Given the description of an element on the screen output the (x, y) to click on. 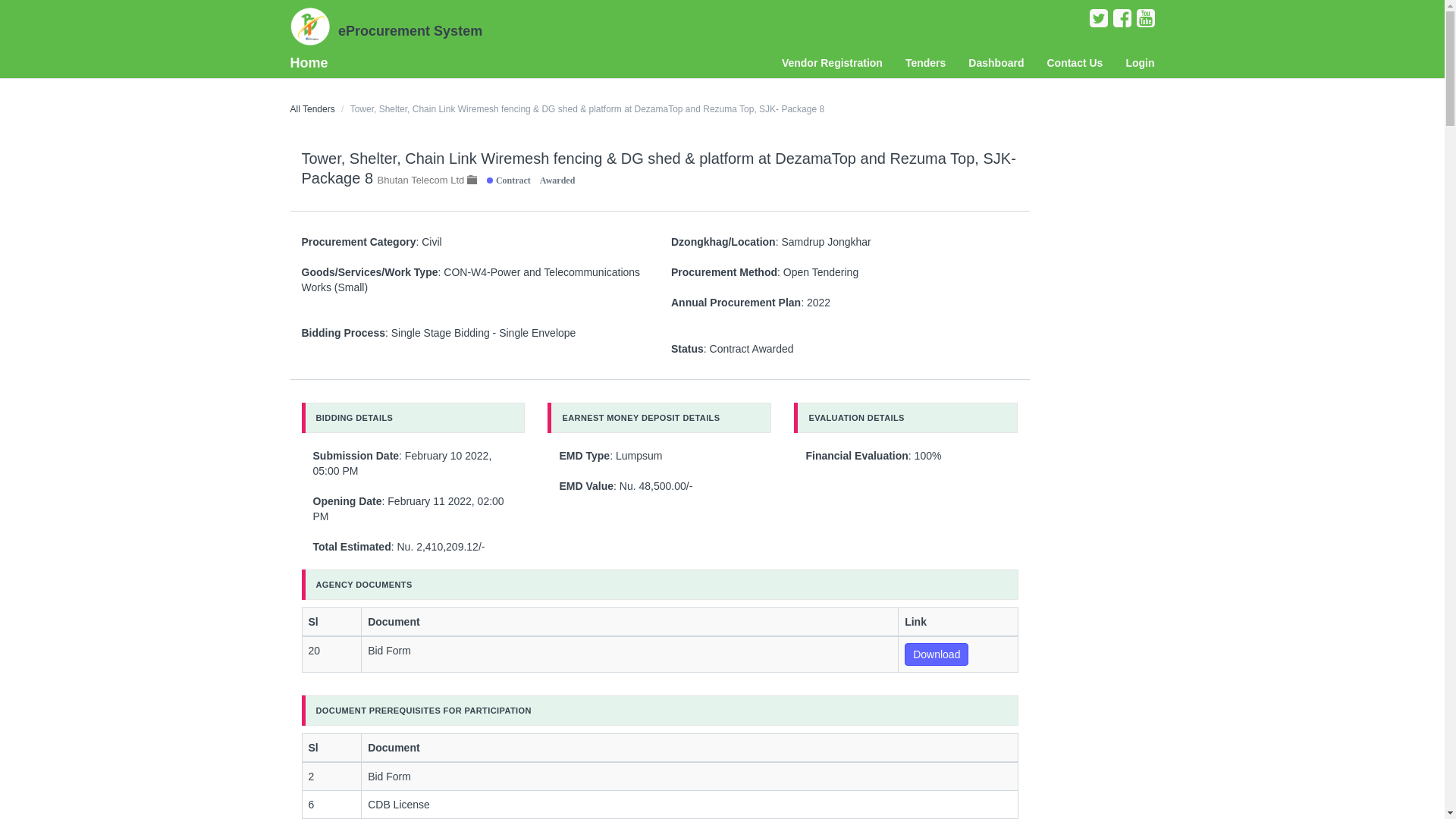
Twitter Element type: hover (1099, 21)
Youtube Element type: hover (1144, 21)
Vendor Registration Element type: text (832, 62)
Tenders Element type: text (925, 62)
Facebook Element type: hover (1123, 21)
Download Element type: text (936, 654)
Login Element type: text (1139, 62)
Home Element type: text (315, 62)
Contact Us Element type: text (1074, 62)
All Tenders Element type: text (311, 108)
Dashboard Element type: text (996, 62)
